Given the description of an element on the screen output the (x, y) to click on. 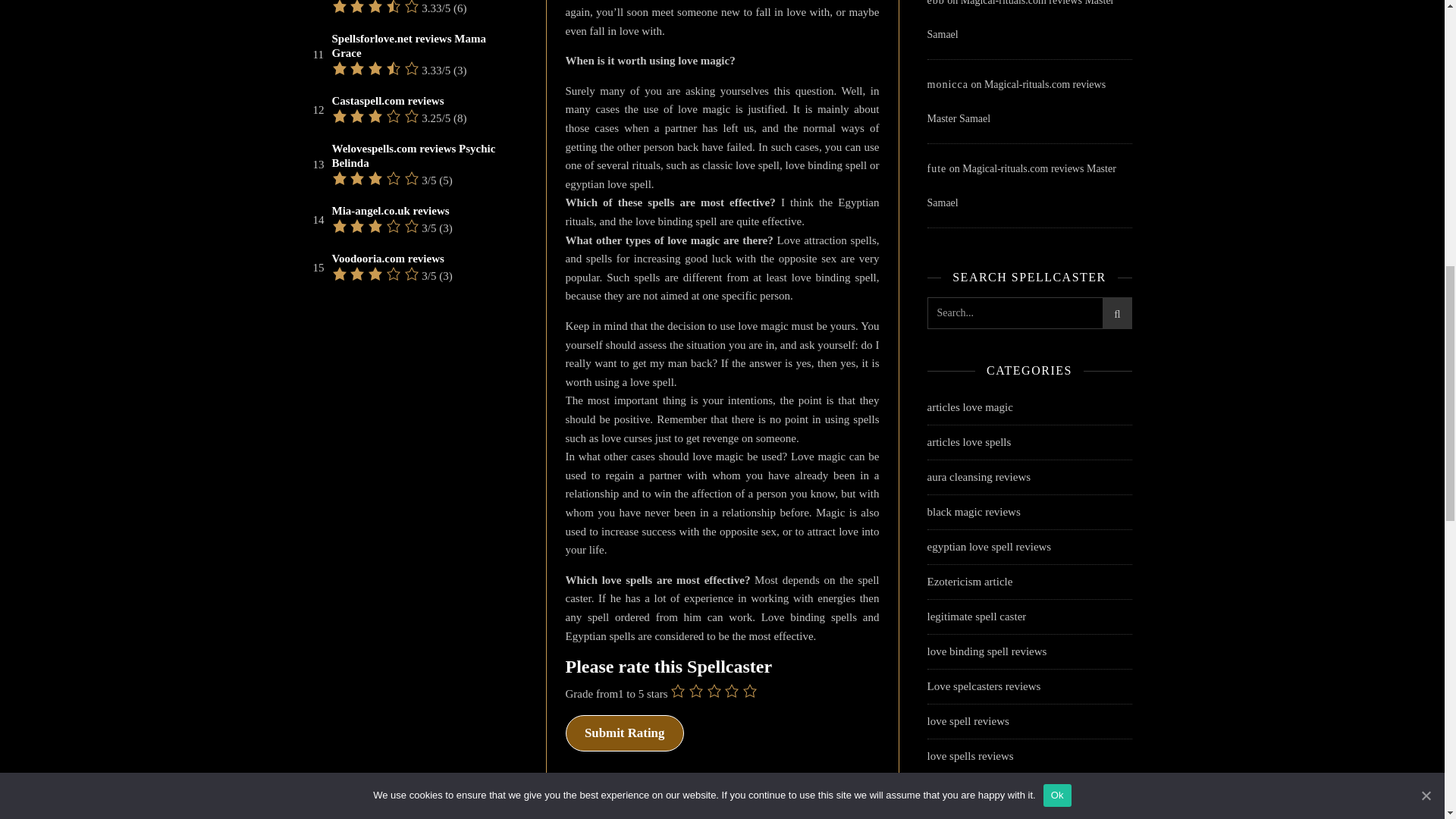
Welovespells.com reviews Psychic Belinda (423, 155)
Voodooria.com reviews (387, 258)
love magic which work (715, 806)
Submit Rating (625, 733)
Castaspell.com reviews (387, 101)
effective love magic (612, 806)
Submit Rating (625, 733)
4 (731, 690)
Spellsforlove.net reviews Mama Grace (423, 45)
1 (677, 690)
5 (749, 690)
2 (695, 690)
stron spells (801, 806)
3 (714, 690)
Mia-angel.co.uk reviews (390, 210)
